Given the description of an element on the screen output the (x, y) to click on. 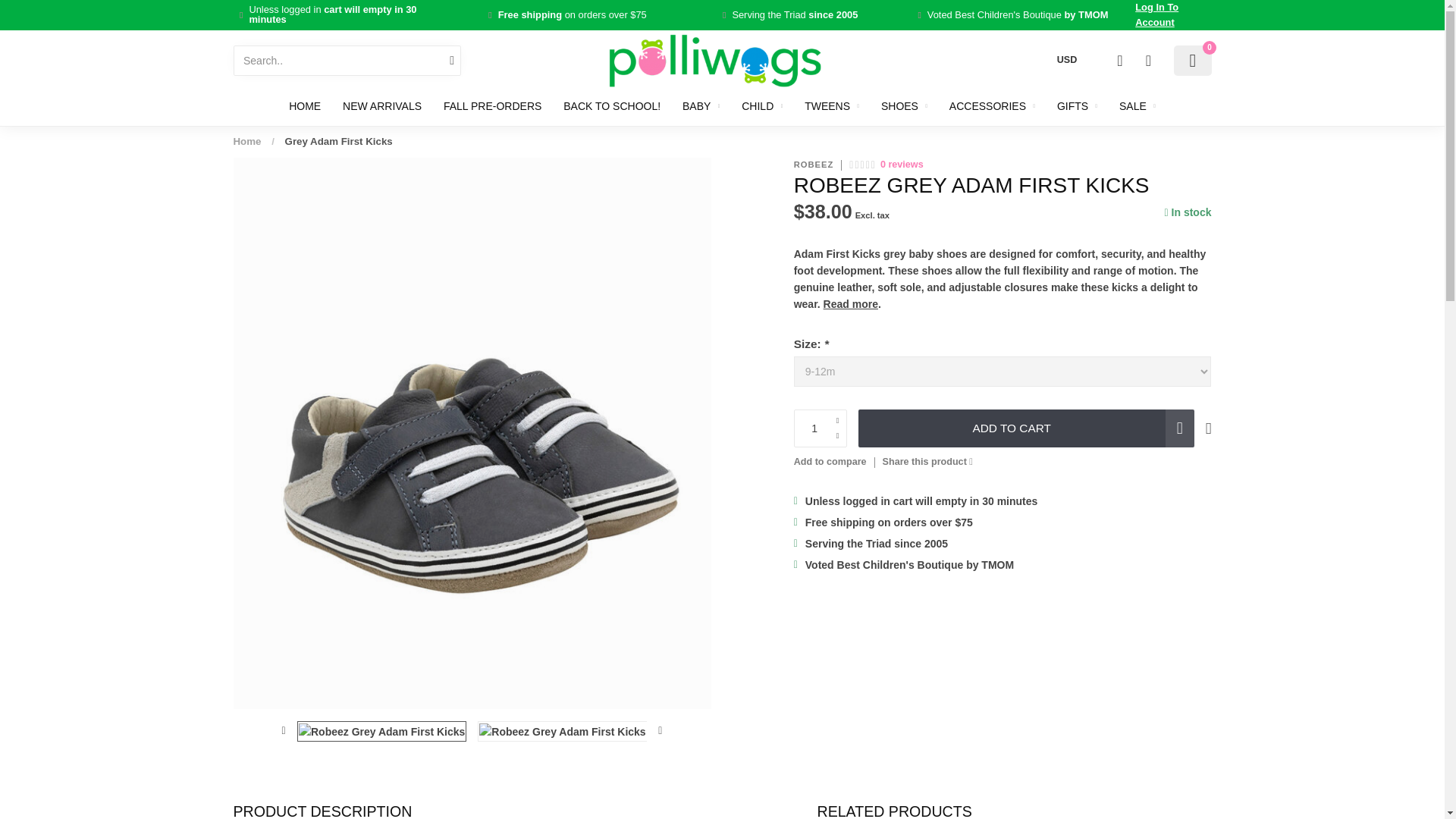
1 (820, 428)
Home (247, 141)
BABY (700, 106)
0 (1192, 60)
NEW ARRIVALS (382, 106)
FALL PRE-ORDERS (492, 106)
Log In To Account (1173, 15)
CHILD (762, 106)
TWEENS (832, 106)
BACK TO SCHOOL! (612, 106)
